Given the description of an element on the screen output the (x, y) to click on. 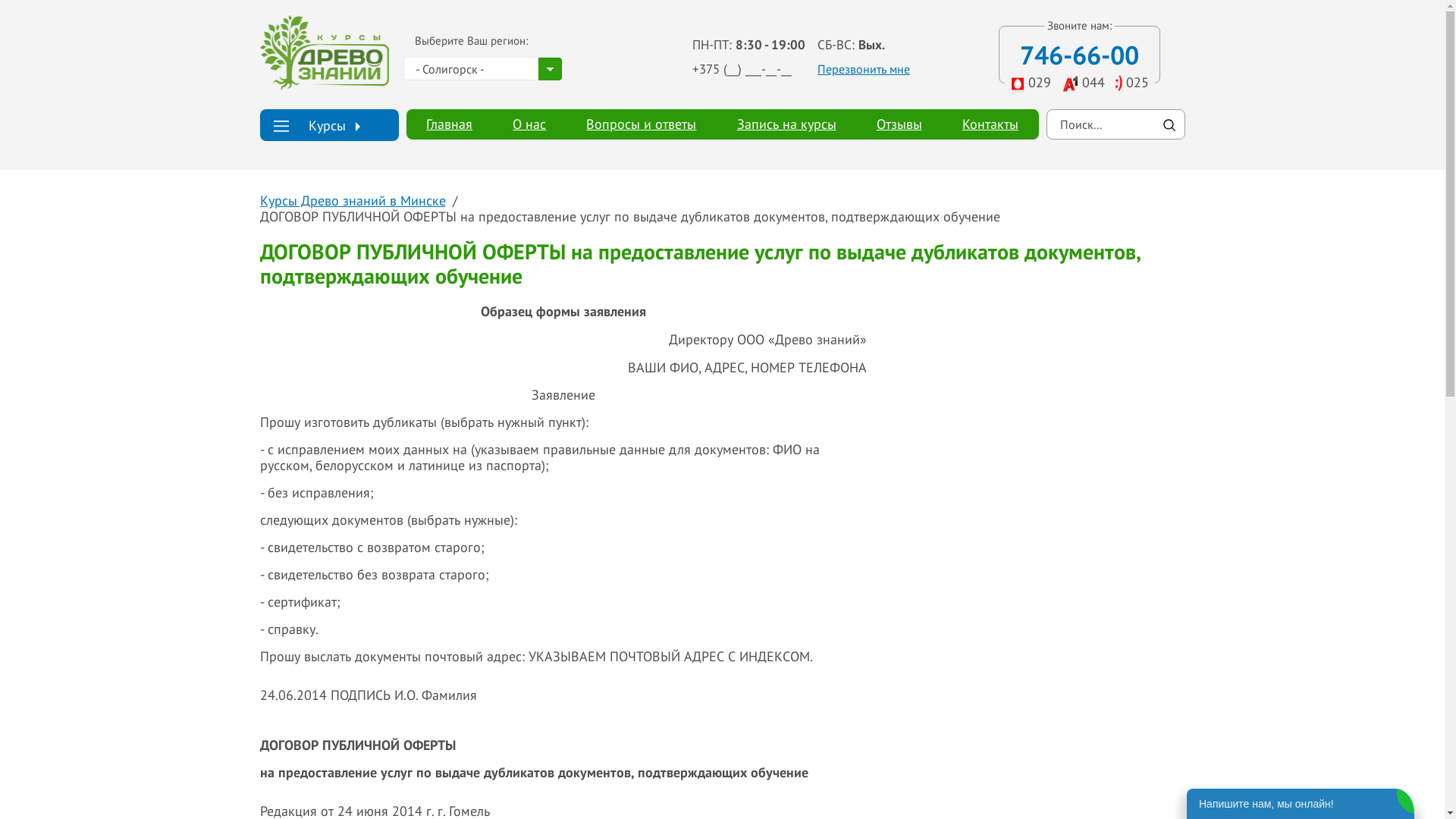
746-66-00 Element type: text (1079, 54)
